Given the description of an element on the screen output the (x, y) to click on. 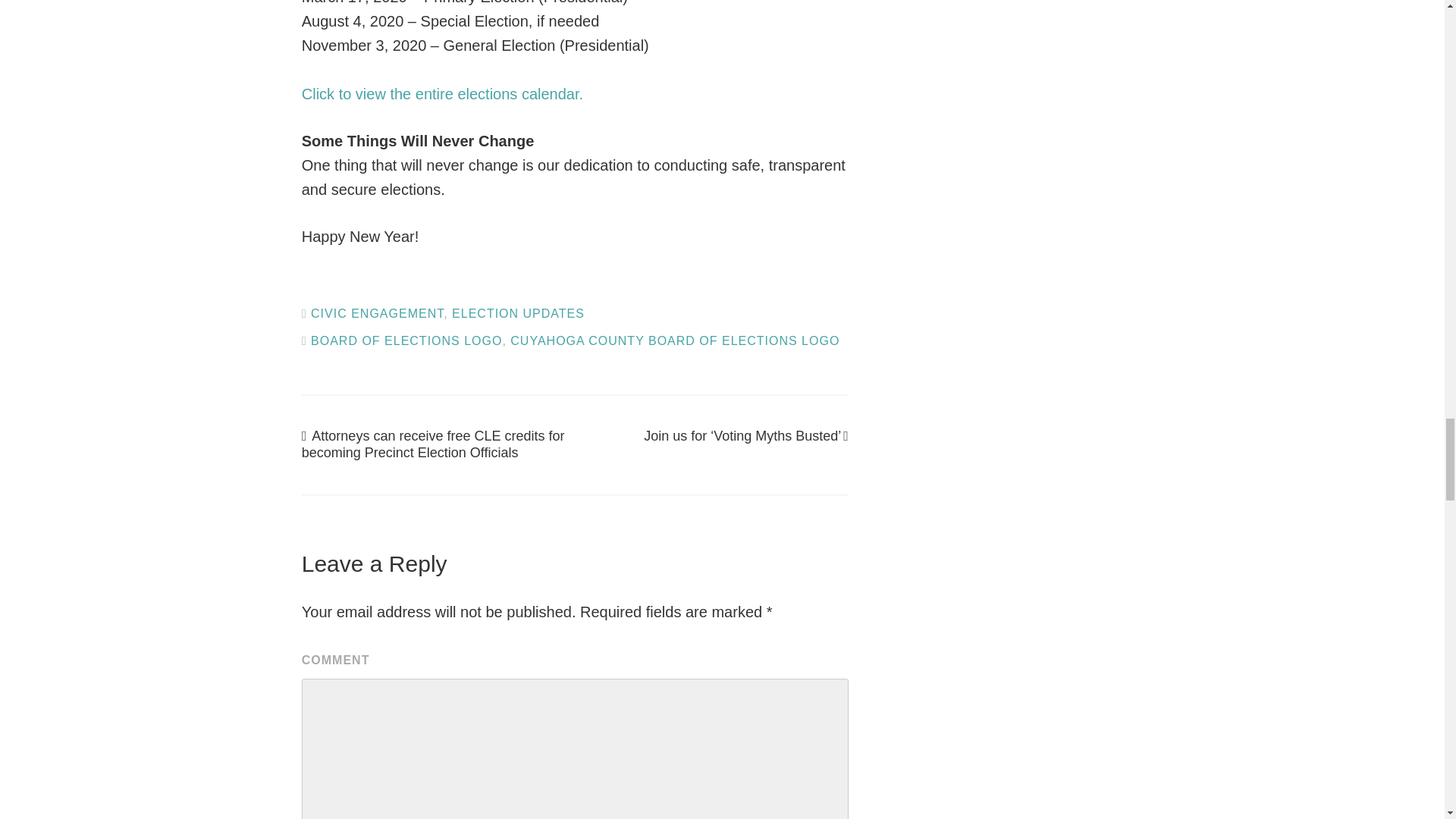
CUYAHOGA COUNTY BOARD OF ELECTIONS LOGO (675, 340)
CIVIC ENGAGEMENT (377, 313)
BOARD OF ELECTIONS LOGO (406, 340)
ELECTION UPDATES (518, 313)
Click to view the entire elections calendar. (442, 93)
